Given the description of an element on the screen output the (x, y) to click on. 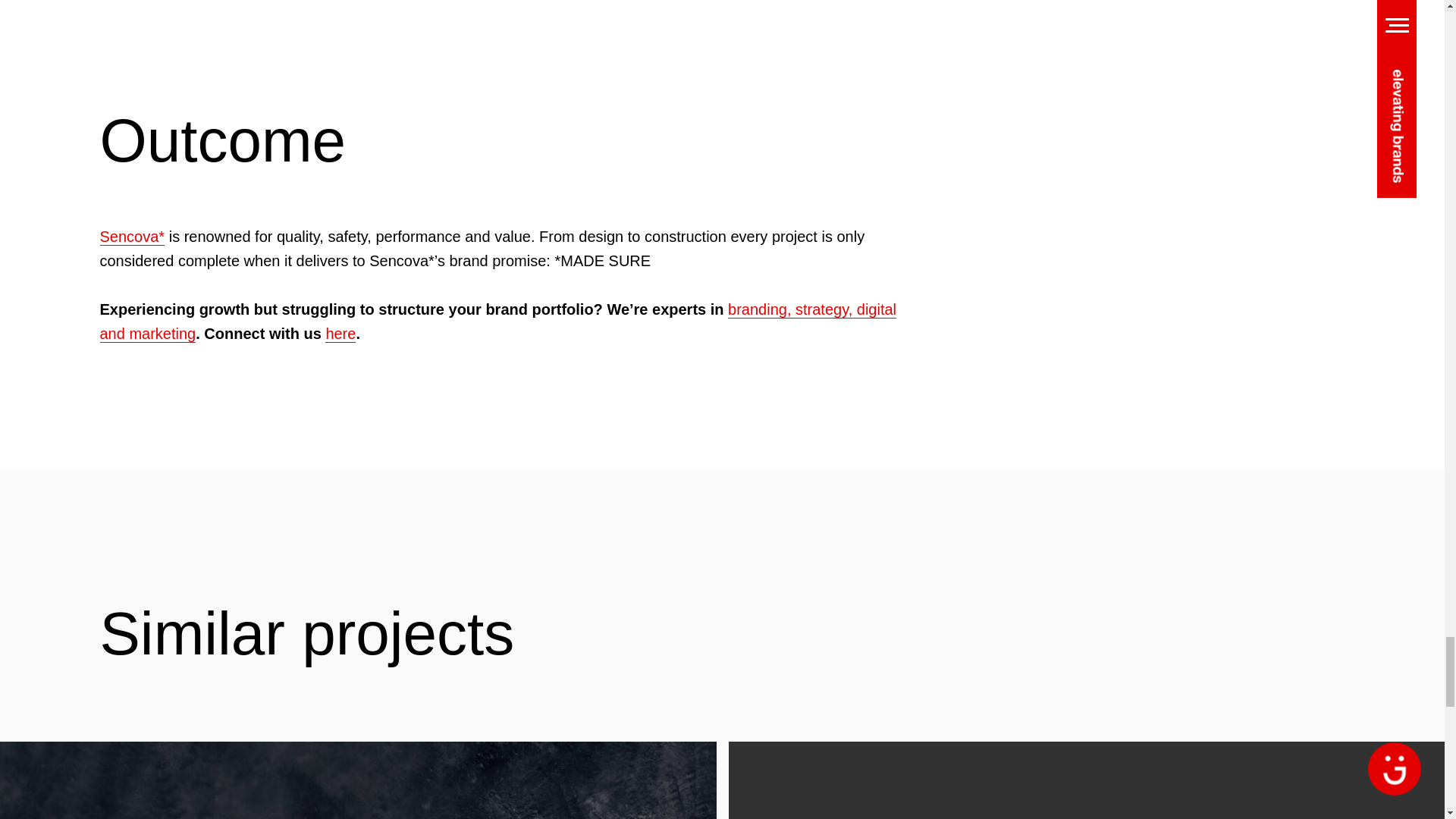
branding, strategy, digital and marketing (498, 322)
here (339, 334)
